Given the description of an element on the screen output the (x, y) to click on. 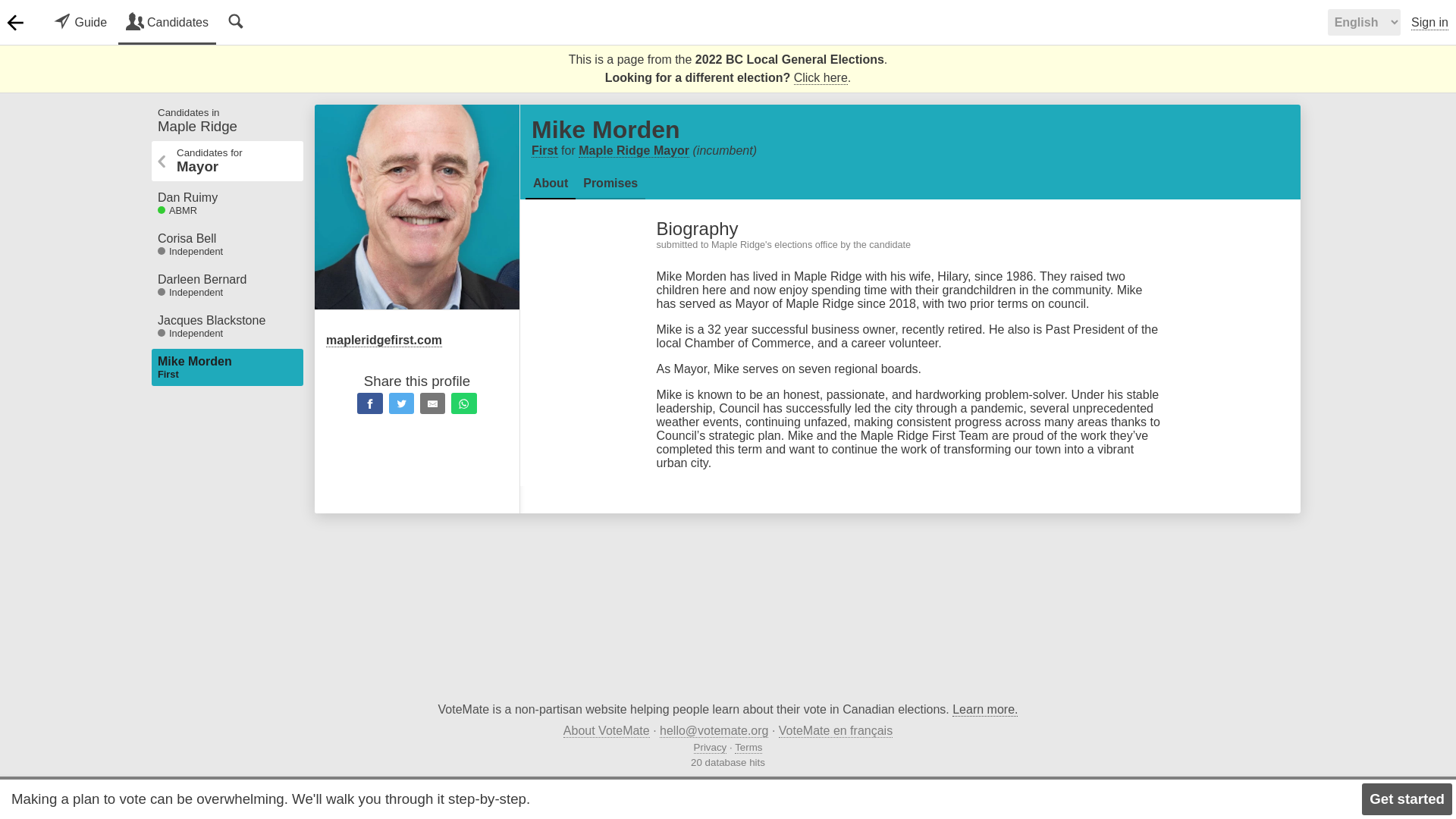
VoteMate Home (226, 325)
Sign in (226, 284)
Candidates (15, 22)
Candidates, their profiles, and their policies (226, 244)
Search for candidates, municipalities, and parties (1429, 22)
Guide (166, 22)
How to vote in the Maple Ridge election (226, 120)
Looking for a different election? Click here. (166, 22)
